Given the description of an element on the screen output the (x, y) to click on. 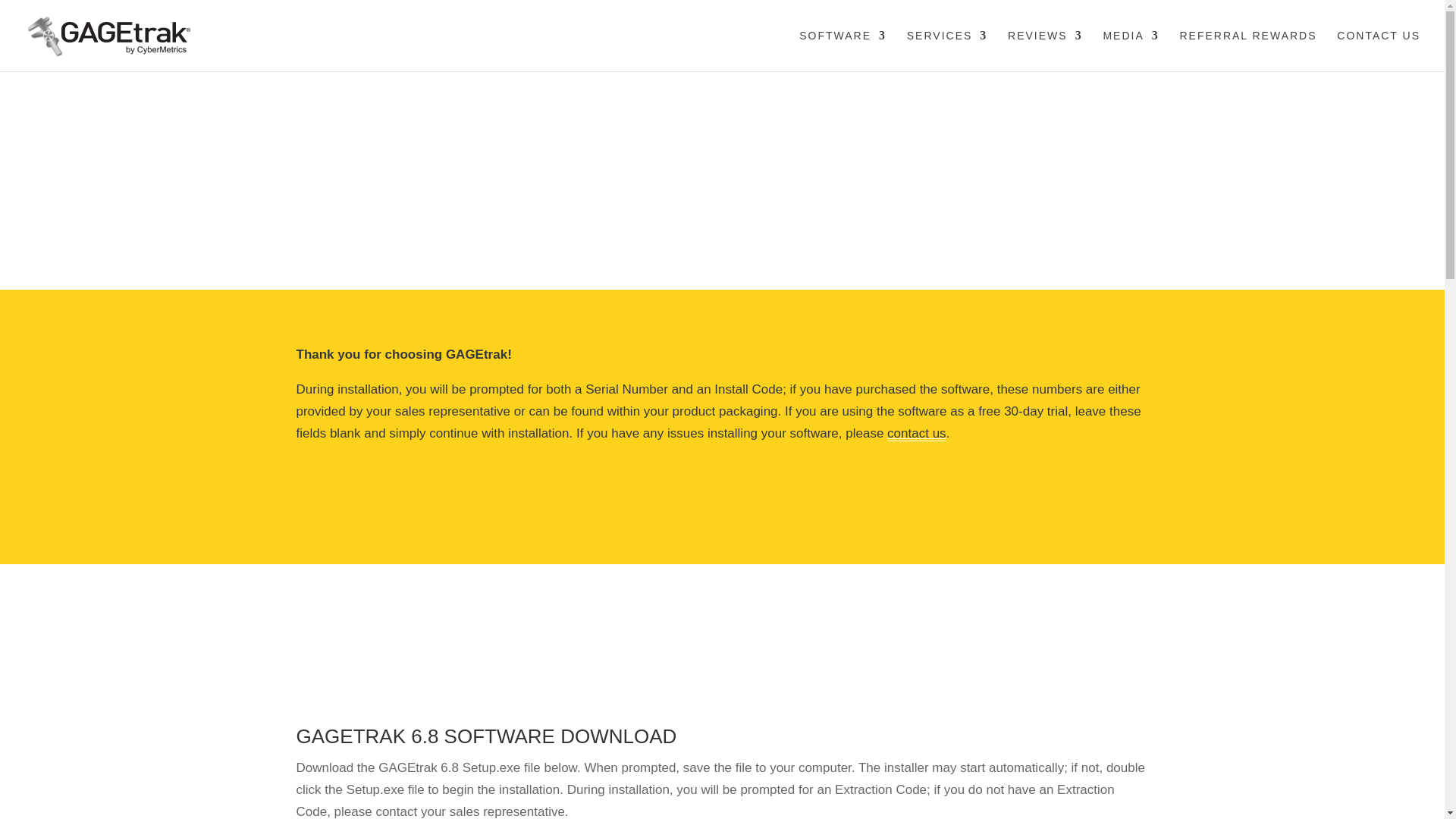
CONTACT US (1378, 50)
REVIEWS (1045, 50)
SOFTWARE (842, 50)
MEDIA (1130, 50)
REFERRAL REWARDS (1247, 50)
SERVICES (947, 50)
contact us (916, 432)
